Given the description of an element on the screen output the (x, y) to click on. 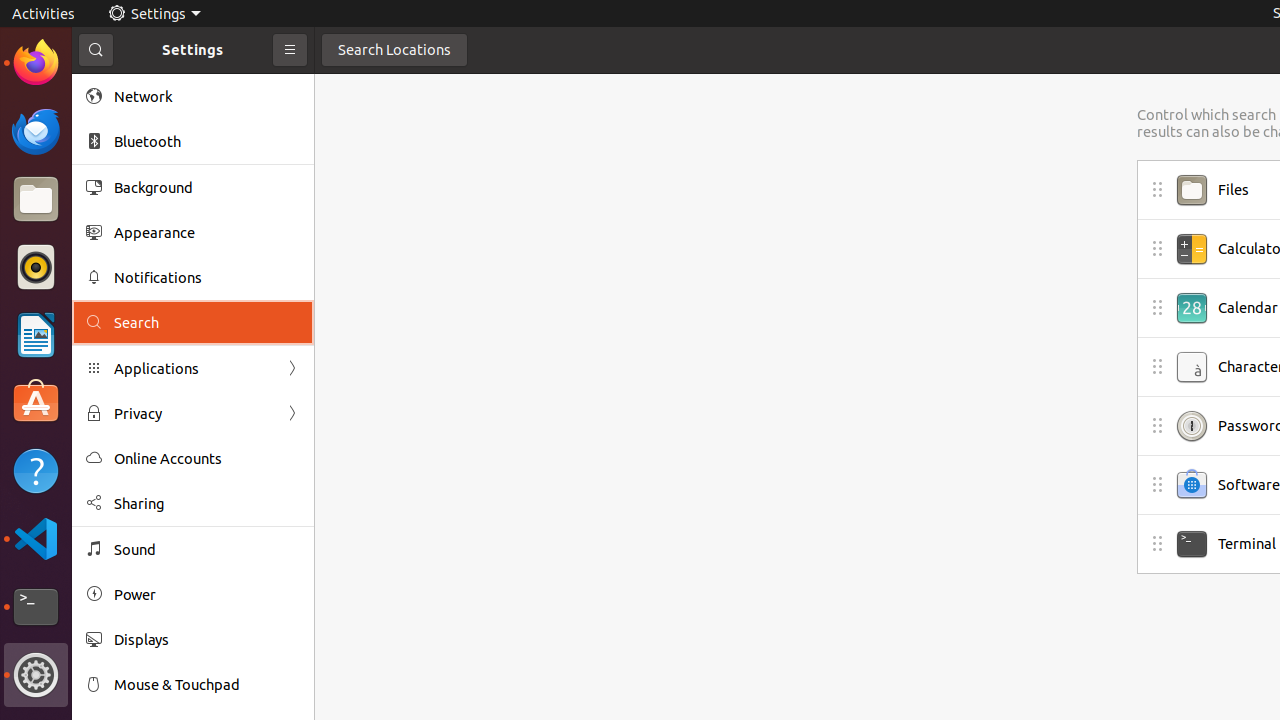
Bluetooth Element type: label (207, 141)
Sound Element type: label (207, 549)
Activities Element type: label (43, 13)
Mouse & Touchpad Element type: label (207, 684)
